Given the description of an element on the screen output the (x, y) to click on. 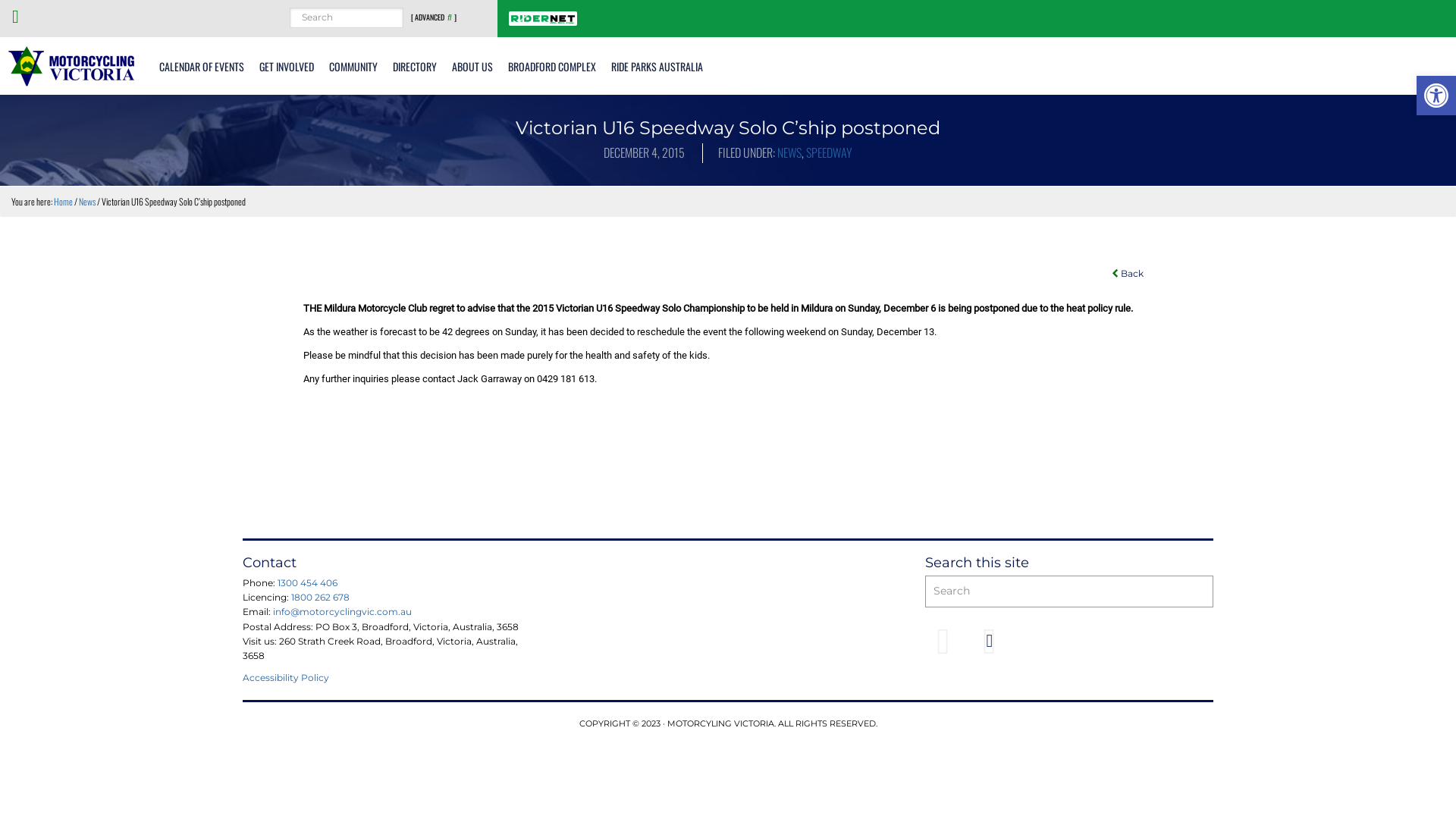
News Element type: text (86, 200)
RIDE PARKS AUSTRALIA Element type: text (656, 65)
CALENDAR OF EVENTS Element type: text (201, 65)
ABOUT US Element type: text (472, 65)
DIRECTORY Element type: text (414, 65)
BROADFORD COMPLEX Element type: text (551, 65)
Skip to primary navigation Element type: text (0, 0)
1800 262 678 Element type: text (320, 596)
Search Element type: text (1212, 574)
info@motorcyclingvic.com.au Element type: text (342, 611)
COMMUNITY Element type: text (353, 65)
1300 454 406 Element type: text (307, 582)
Home Element type: text (62, 200)
NEWS Element type: text (789, 152)
Back Element type: text (1127, 273)
GET INVOLVED Element type: text (286, 65)
SPEEDWAY Element type: text (829, 152)
Search Element type: text (402, 6)
Motorcycling Victoria Element type: text (71, 65)
Accessibility Policy Element type: text (285, 677)
[ ADVANCED ] Element type: text (433, 16)
